Given the description of an element on the screen output the (x, y) to click on. 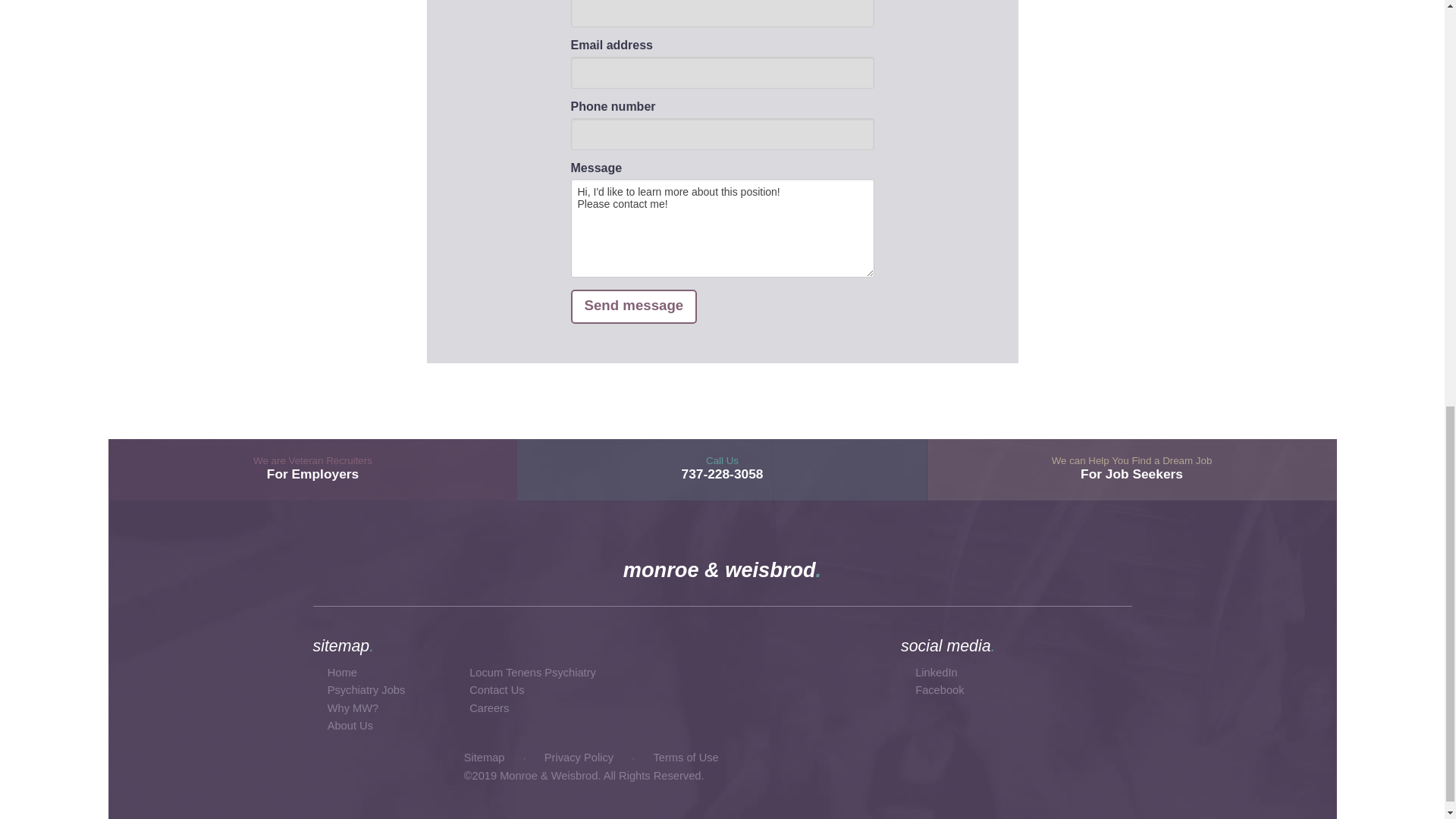
LinkedIn (935, 672)
Careers (488, 707)
Psychiatry Jobs (366, 689)
Facebook (939, 689)
Home (341, 672)
Contact Us (1131, 469)
Sitemap (496, 689)
Send message (484, 757)
Privacy Policy (633, 306)
Locum Tenens Psychiatry (578, 757)
About Us (311, 469)
Terms of Use (531, 672)
Why MW? (349, 725)
